Given the description of an element on the screen output the (x, y) to click on. 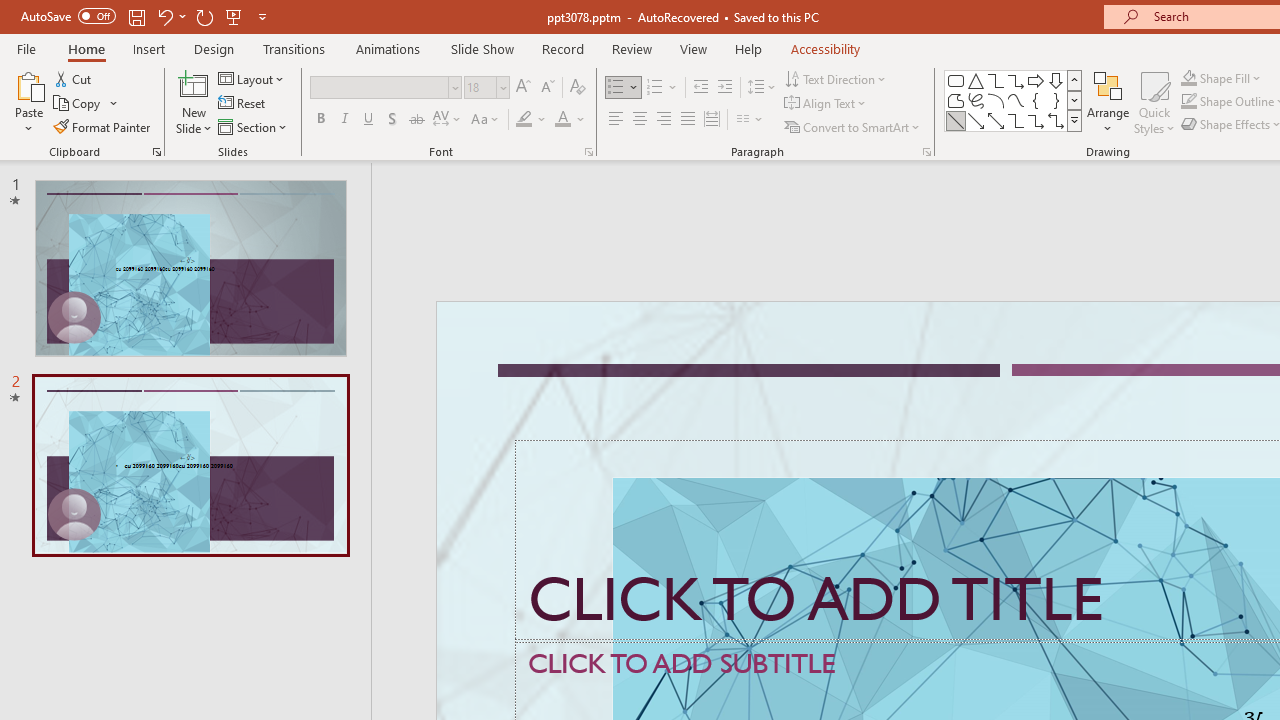
Shape Outline Green, Accent 1 (1188, 101)
